Given the description of an element on the screen output the (x, y) to click on. 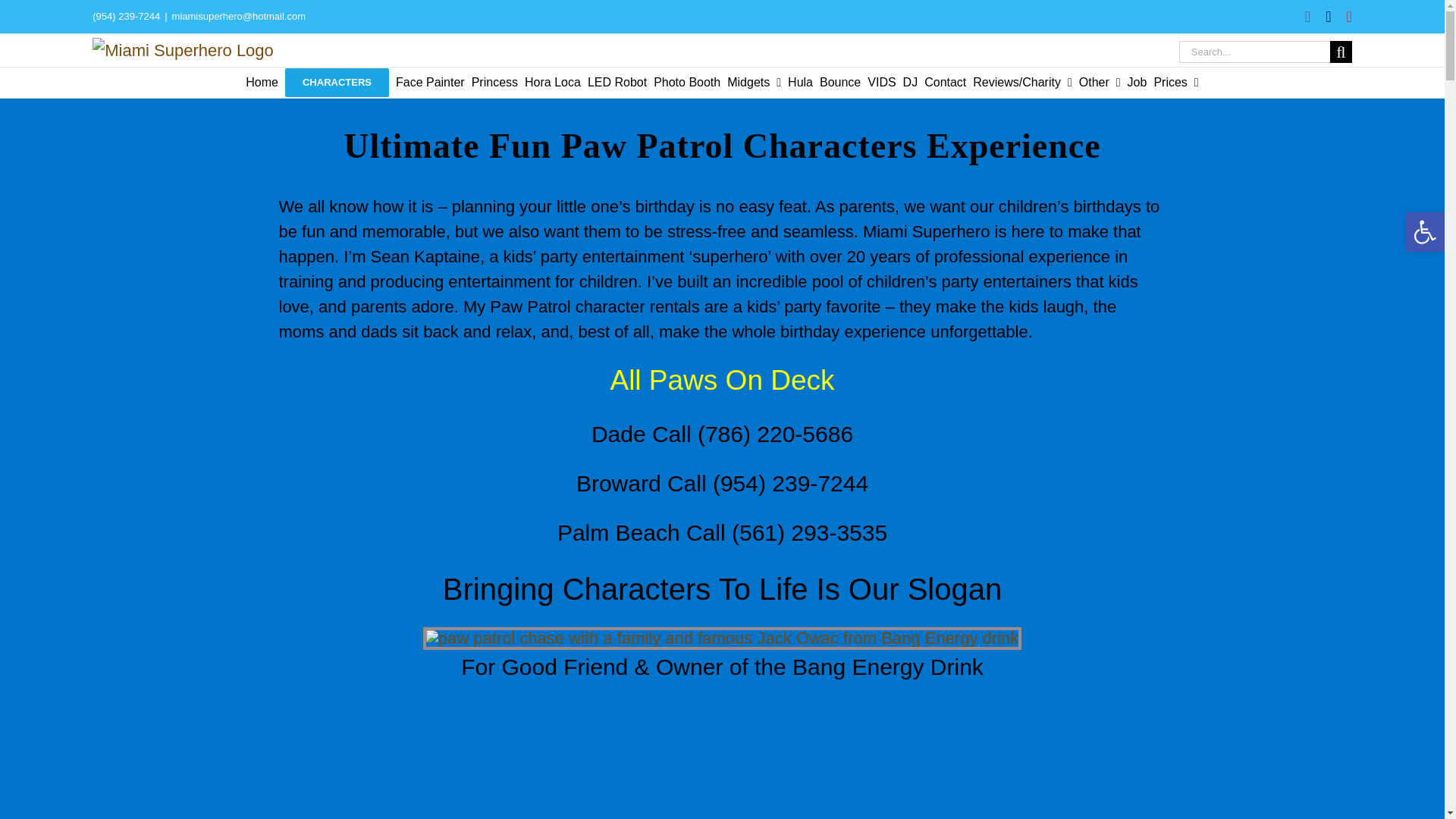
Accessibility Tools (1424, 232)
Party Characters (336, 82)
CHARACTERS (336, 82)
Home (262, 82)
